Given the description of an element on the screen output the (x, y) to click on. 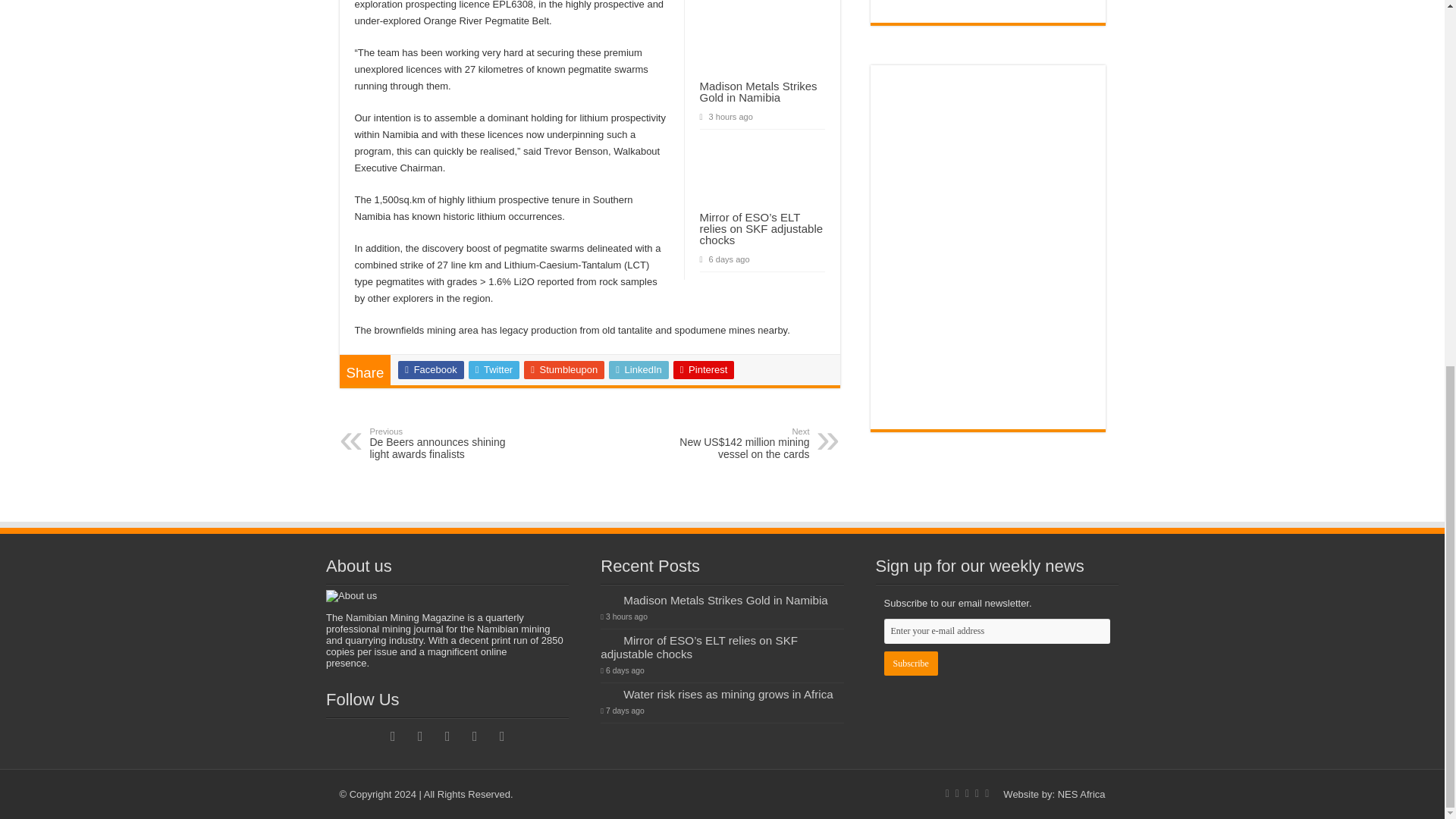
Subscribe (910, 663)
Enter your e-mail address (996, 631)
